Given the description of an element on the screen output the (x, y) to click on. 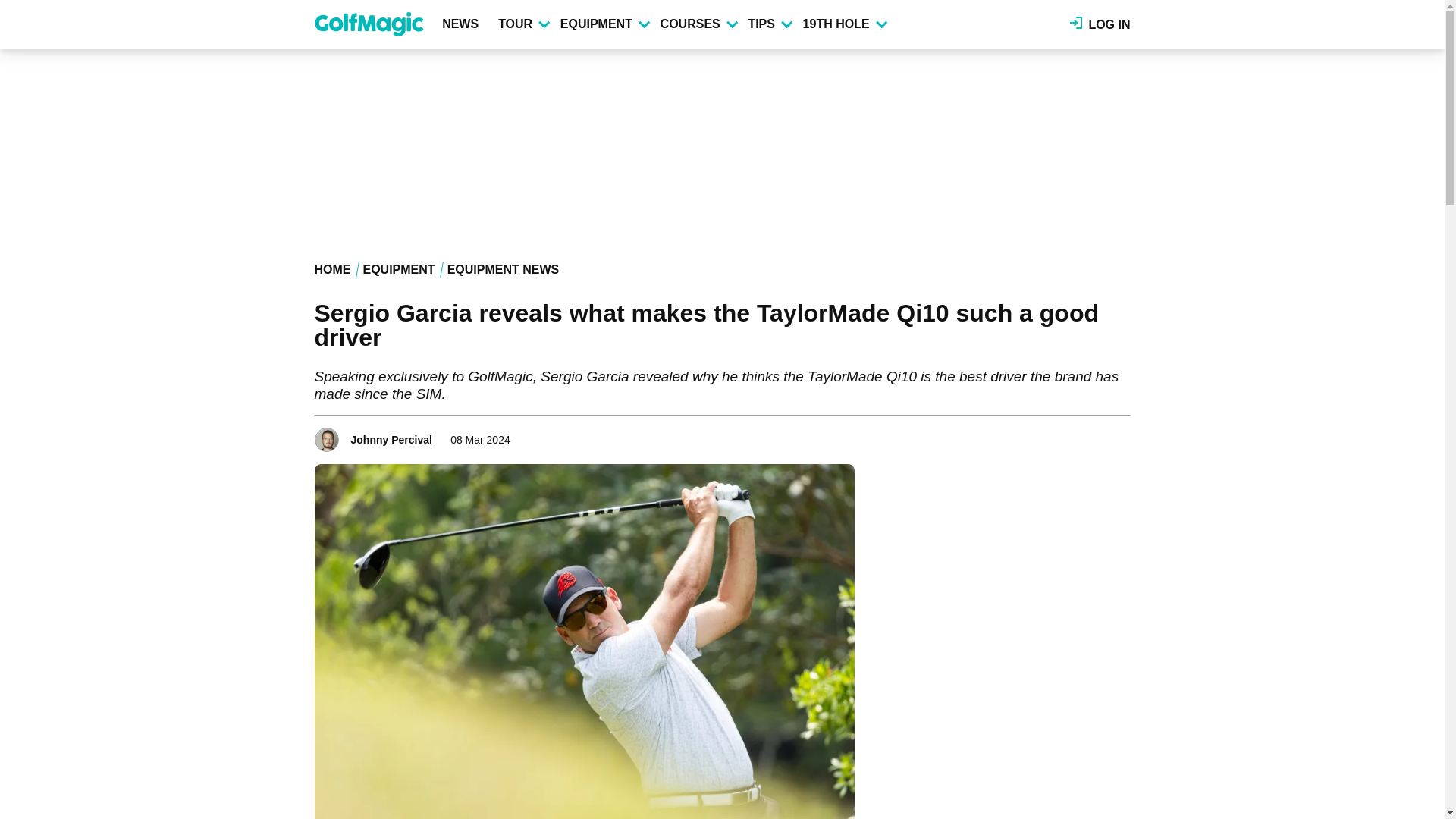
EQUIPMENT (603, 24)
Share to Linkedin (1097, 435)
LOG IN (1100, 24)
TOUR (523, 24)
Share to X (1076, 435)
Share to Facebook (1055, 435)
Share to Email (1119, 435)
NEWS (463, 24)
